Given the description of an element on the screen output the (x, y) to click on. 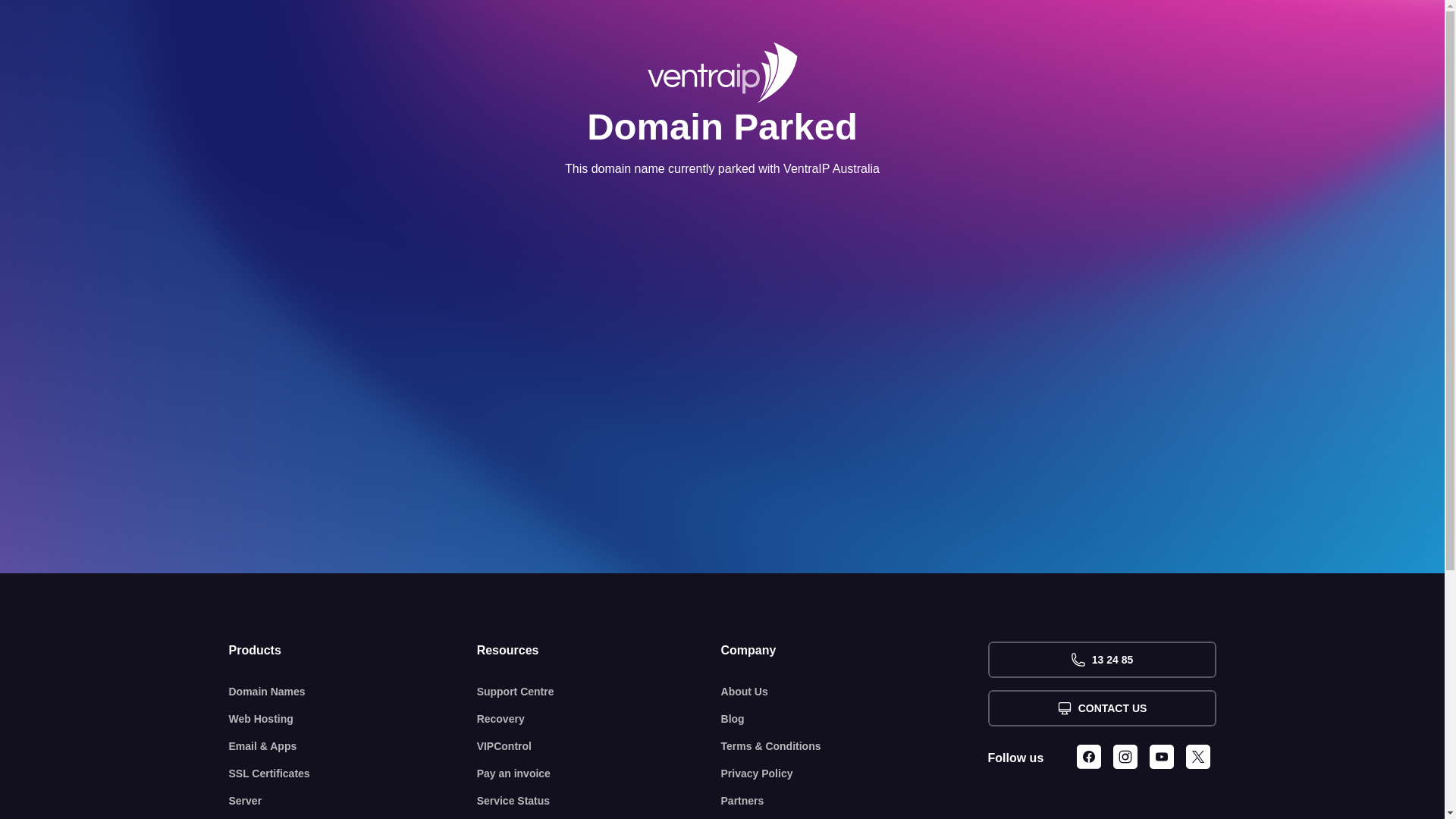
Recovery Element type: text (598, 718)
Domain Names Element type: text (352, 691)
Pay an invoice Element type: text (598, 773)
Web Hosting Element type: text (352, 718)
Server Element type: text (352, 800)
VIPControl Element type: text (598, 745)
Blog Element type: text (854, 718)
Email & Apps Element type: text (352, 745)
13 24 85 Element type: text (1101, 659)
Support Centre Element type: text (598, 691)
Privacy Policy Element type: text (854, 773)
About Us Element type: text (854, 691)
SSL Certificates Element type: text (352, 773)
Partners Element type: text (854, 800)
Service Status Element type: text (598, 800)
CONTACT US Element type: text (1101, 708)
Terms & Conditions Element type: text (854, 745)
